Given the description of an element on the screen output the (x, y) to click on. 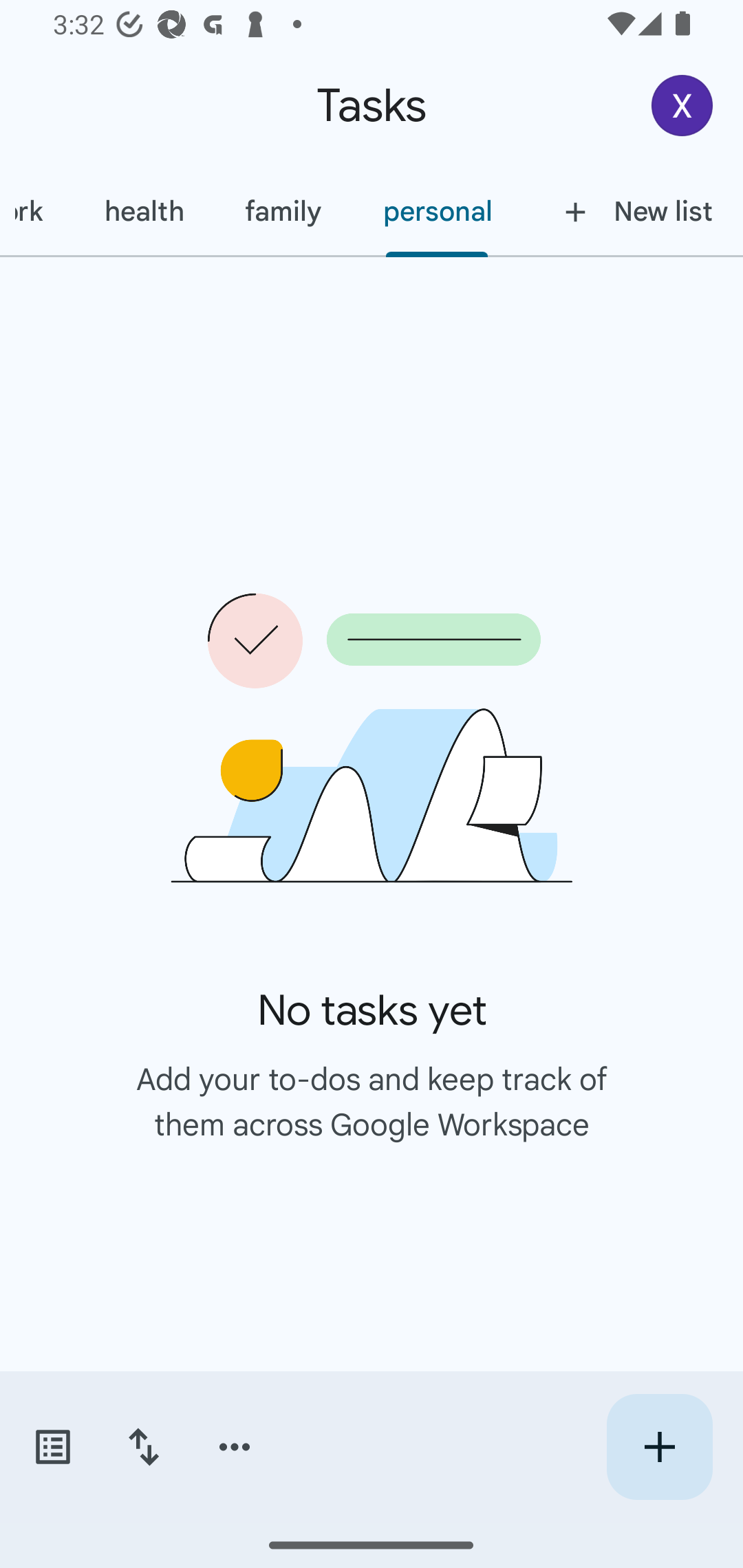
work (36, 211)
health (143, 211)
family (282, 211)
New list (632, 211)
Switch task lists (52, 1447)
Create new task (659, 1446)
Change sort order (143, 1446)
More options (234, 1446)
